Given the description of an element on the screen output the (x, y) to click on. 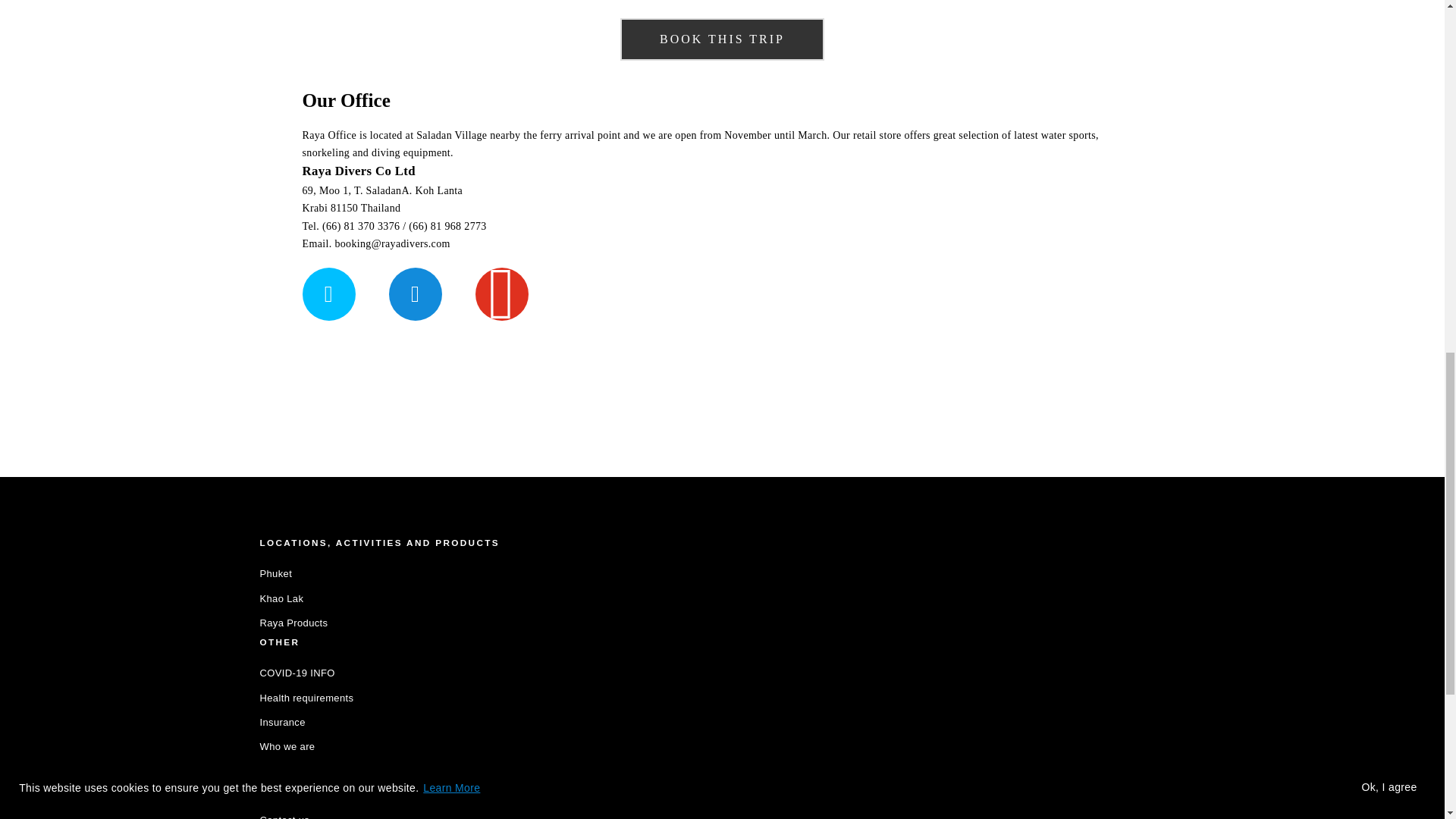
Diving center Koh Lanta Facebook (415, 294)
Diving center Koh Lanta Twitter (328, 294)
Diving center Koh Lanta Instagram (502, 294)
